Given the description of an element on the screen output the (x, y) to click on. 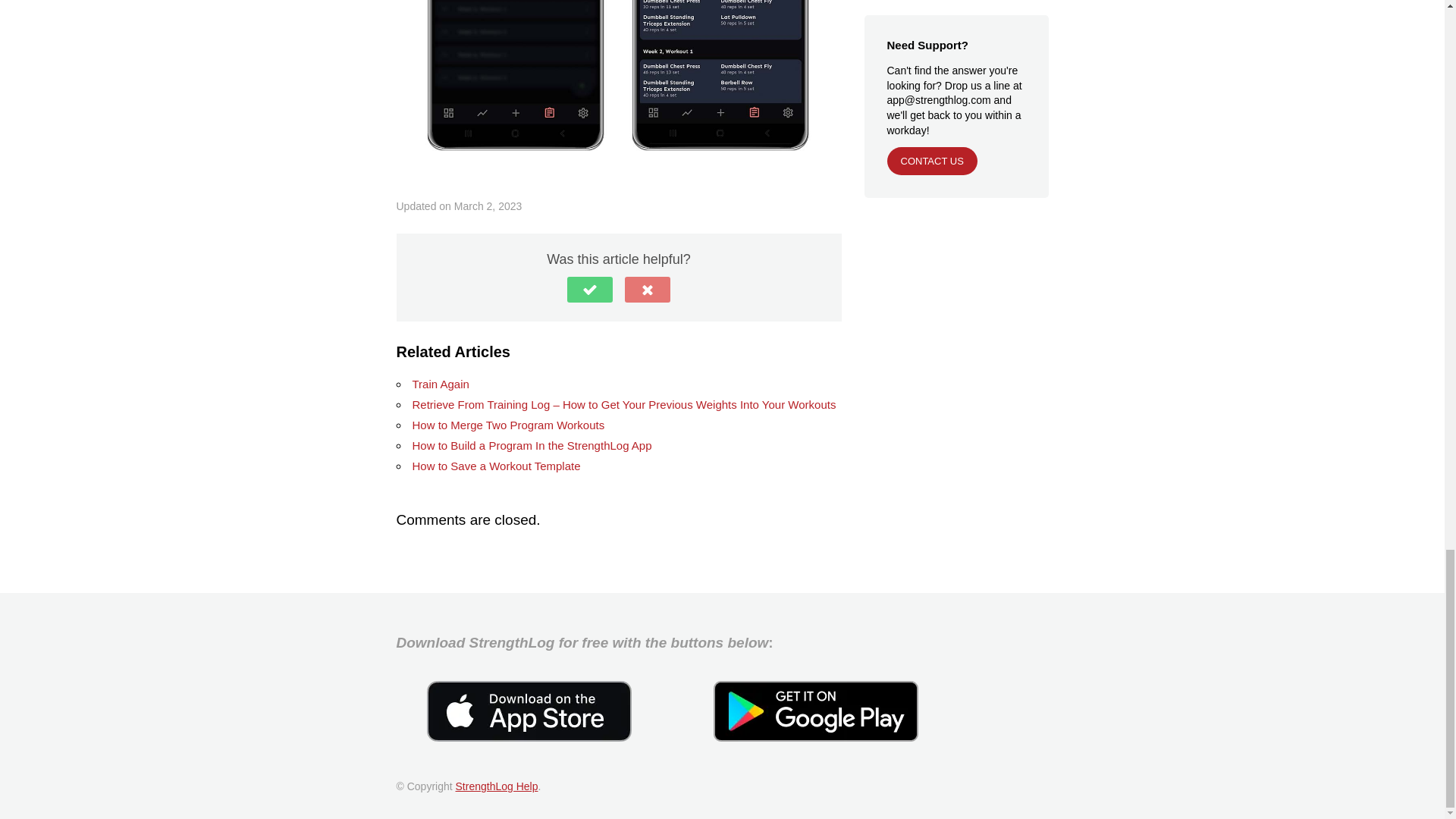
How to Build a Program In the StrengthLog App (532, 445)
Train Again (440, 383)
StrengthLog Help (496, 786)
How to Merge Two Program Workouts (508, 424)
How to Save a Workout Template (496, 465)
